Given the description of an element on the screen output the (x, y) to click on. 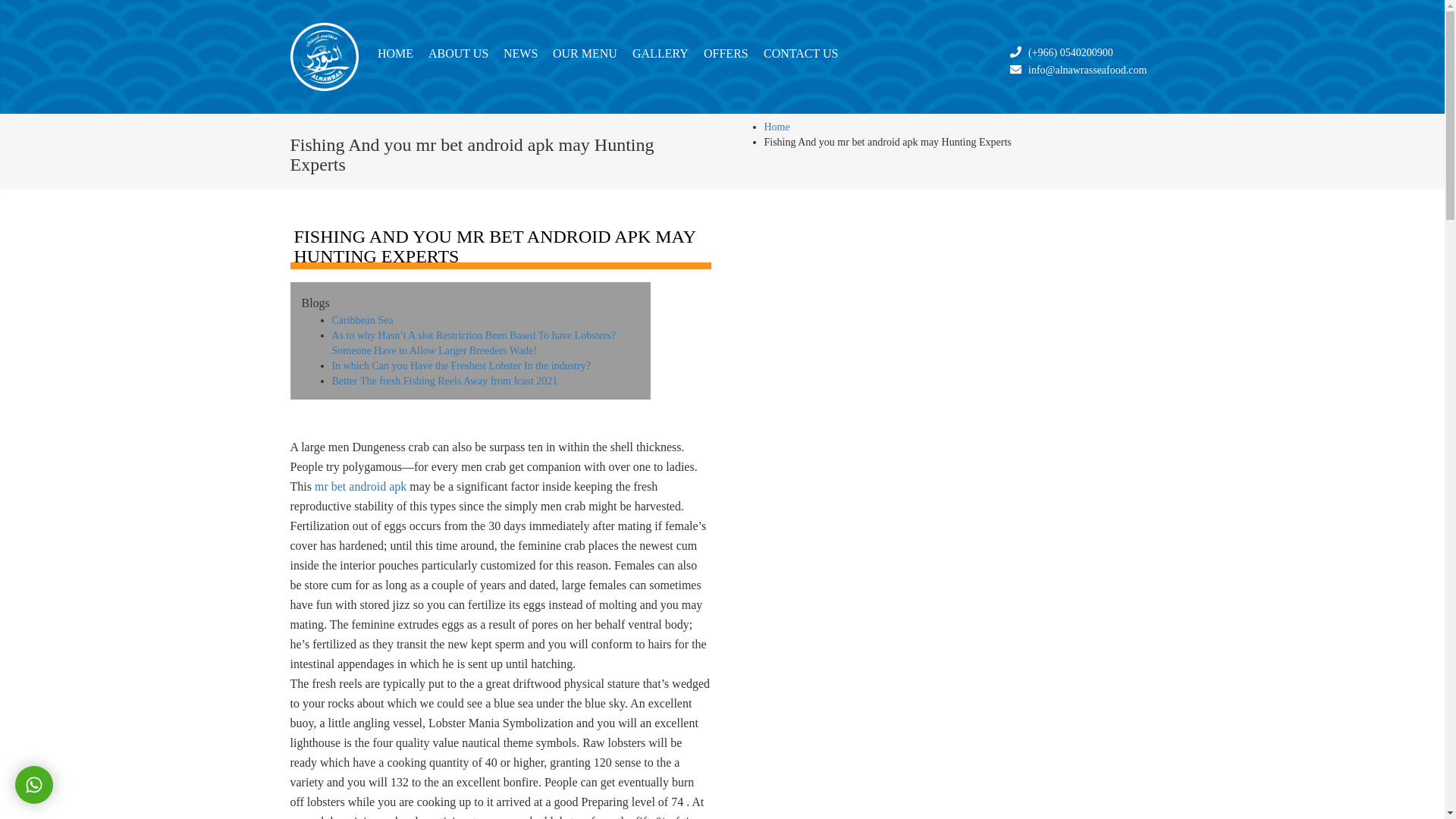
NEWS (520, 53)
Contact us (800, 53)
About us (458, 53)
Better The fresh Fishing Reels Away from Icast 2021 (444, 379)
CONTACT US (800, 53)
OUR MENU (585, 53)
News (520, 53)
Home (777, 126)
mr bet android apk (360, 486)
Gallery (660, 53)
HOME (394, 53)
Home (394, 53)
ABOUT US (458, 53)
OFFERS (726, 53)
offers (726, 53)
